Given the description of an element on the screen output the (x, y) to click on. 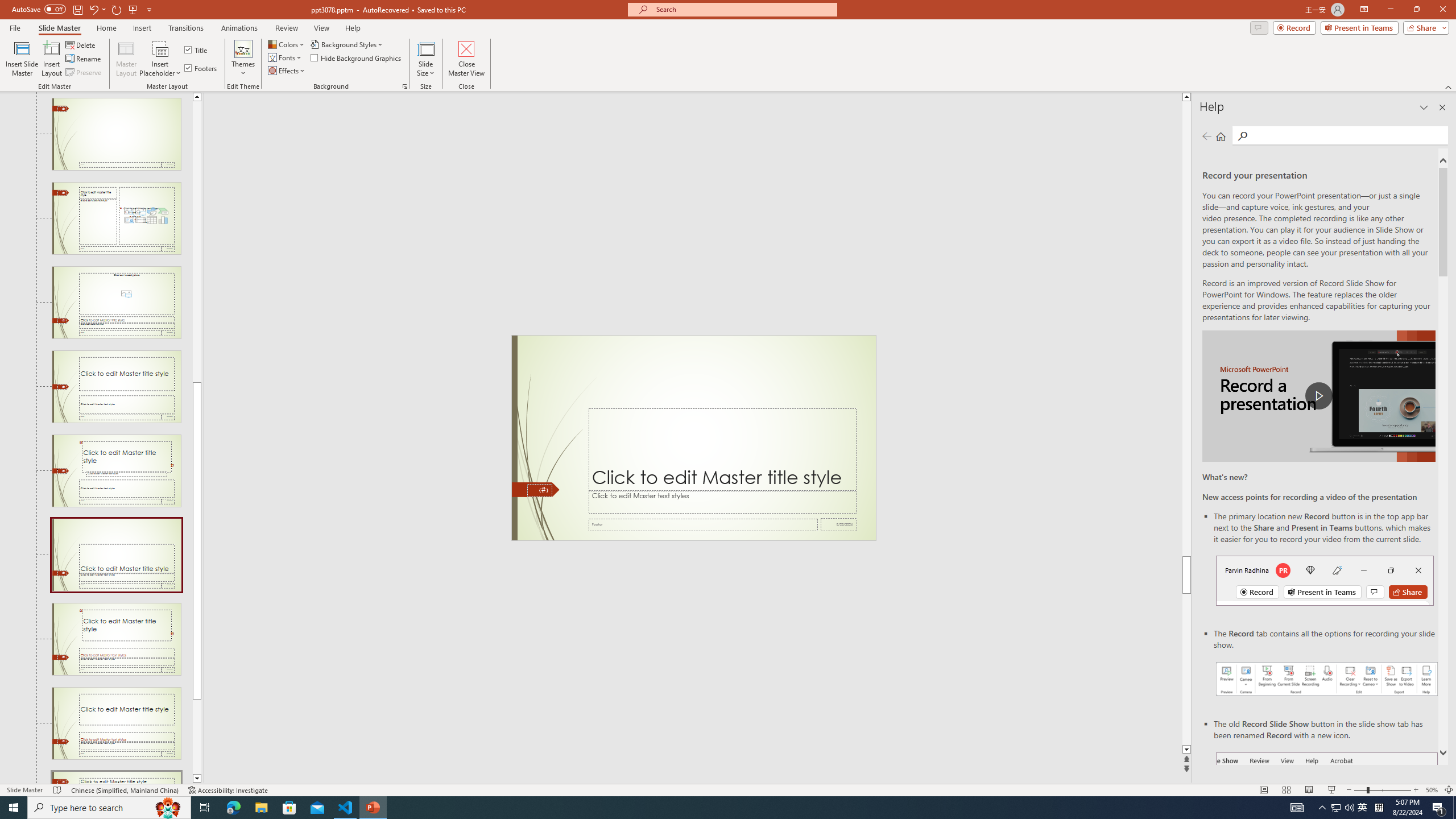
Footer (703, 524)
Slide Number (539, 490)
Title (196, 49)
Slide True or False Layout: used by no slides (116, 723)
TextBox (722, 501)
Slide Title and Caption Layout: used by no slides (116, 386)
play Record a Presentation (1318, 395)
Insert Layout (51, 58)
Fonts (285, 56)
